Given the description of an element on the screen output the (x, y) to click on. 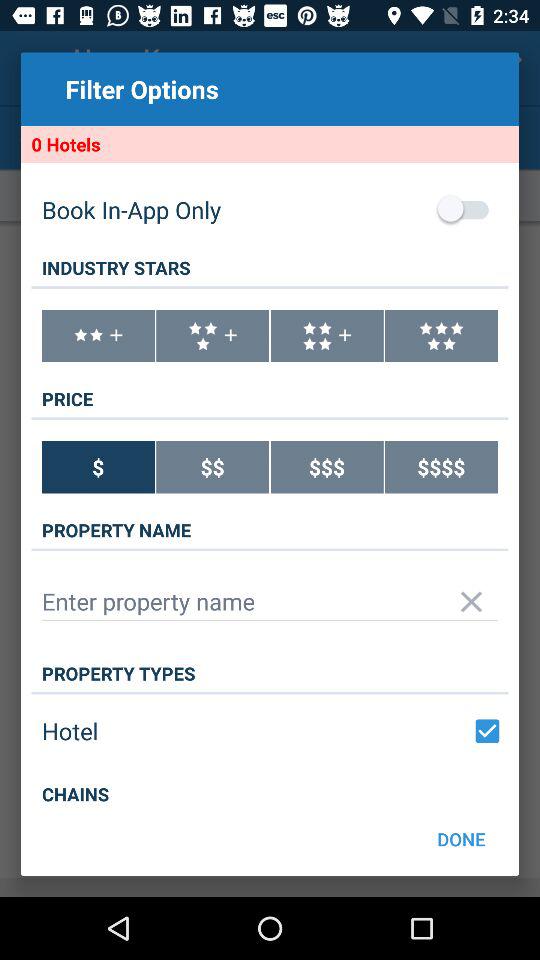
select 5 stars filter (441, 335)
